Given the description of an element on the screen output the (x, y) to click on. 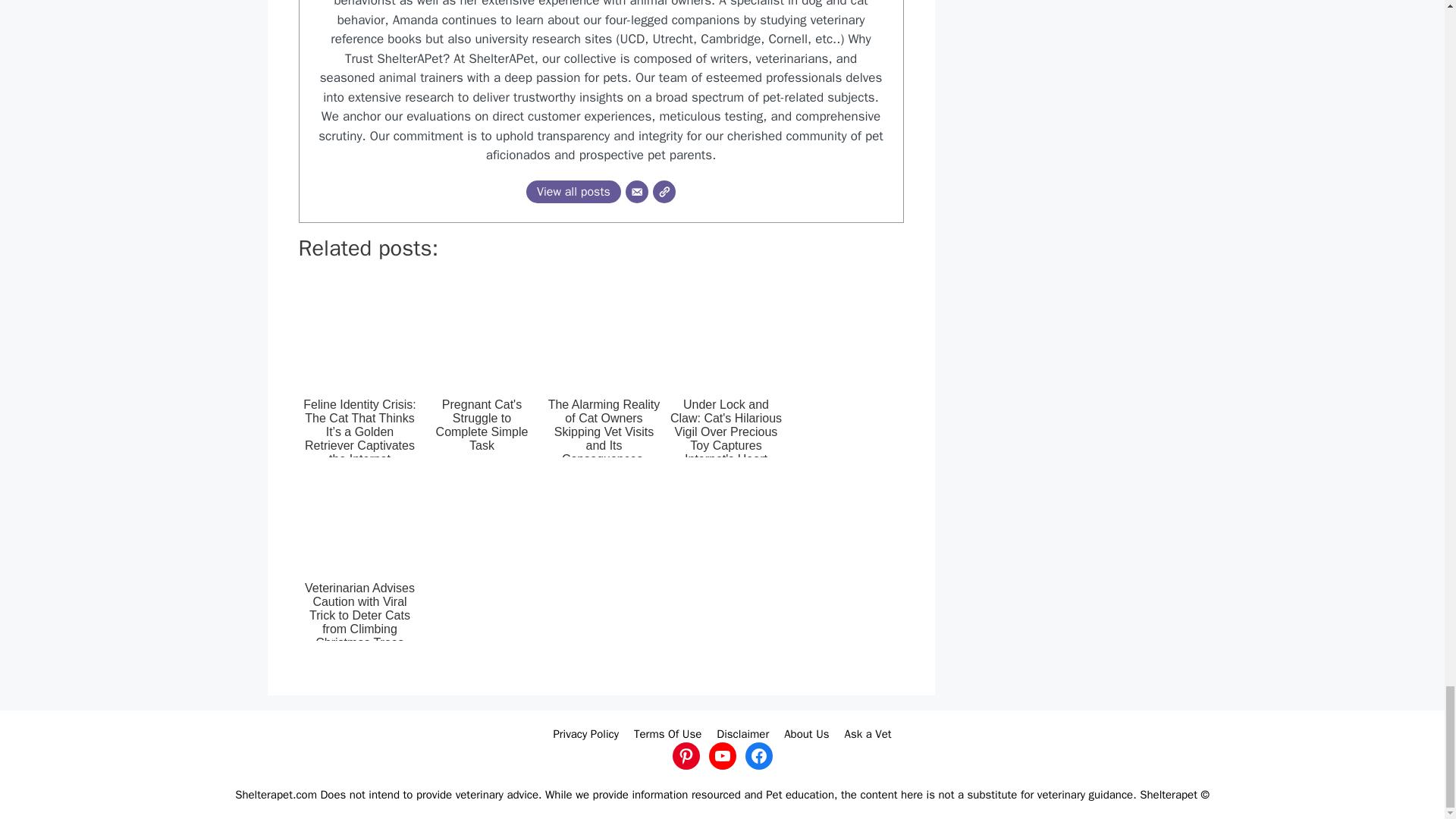
Disclaimer (742, 734)
Privacy Policy (585, 734)
View all posts (573, 191)
Pinterest (684, 755)
About Us (806, 734)
Terms Of Use (667, 734)
View all posts (573, 191)
YouTube (721, 755)
Ask a Vet (867, 734)
Facebook (757, 755)
